Given the description of an element on the screen output the (x, y) to click on. 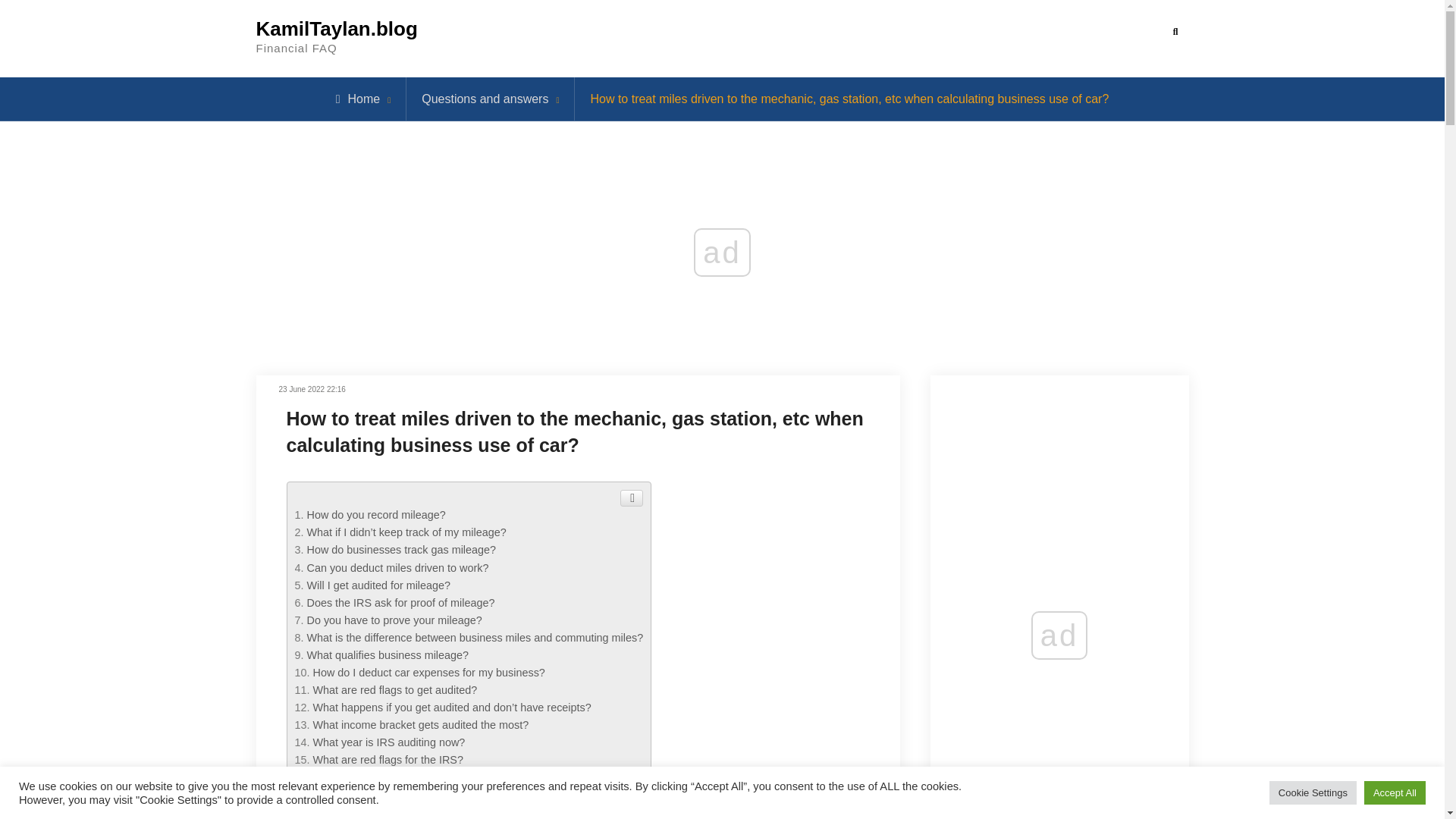
What are red flags for the IRS? (388, 759)
Home (358, 98)
Does the IRS ask for proof of mileage? (400, 603)
What qualifies business mileage? (386, 654)
Do you have to prove your mileage? (393, 620)
Questions and answers (485, 98)
What are the odds of getting audited by the IRS? (430, 776)
How do you record mileage? (375, 514)
What are red flags to get audited? (395, 689)
Search (1174, 31)
